Given the description of an element on the screen output the (x, y) to click on. 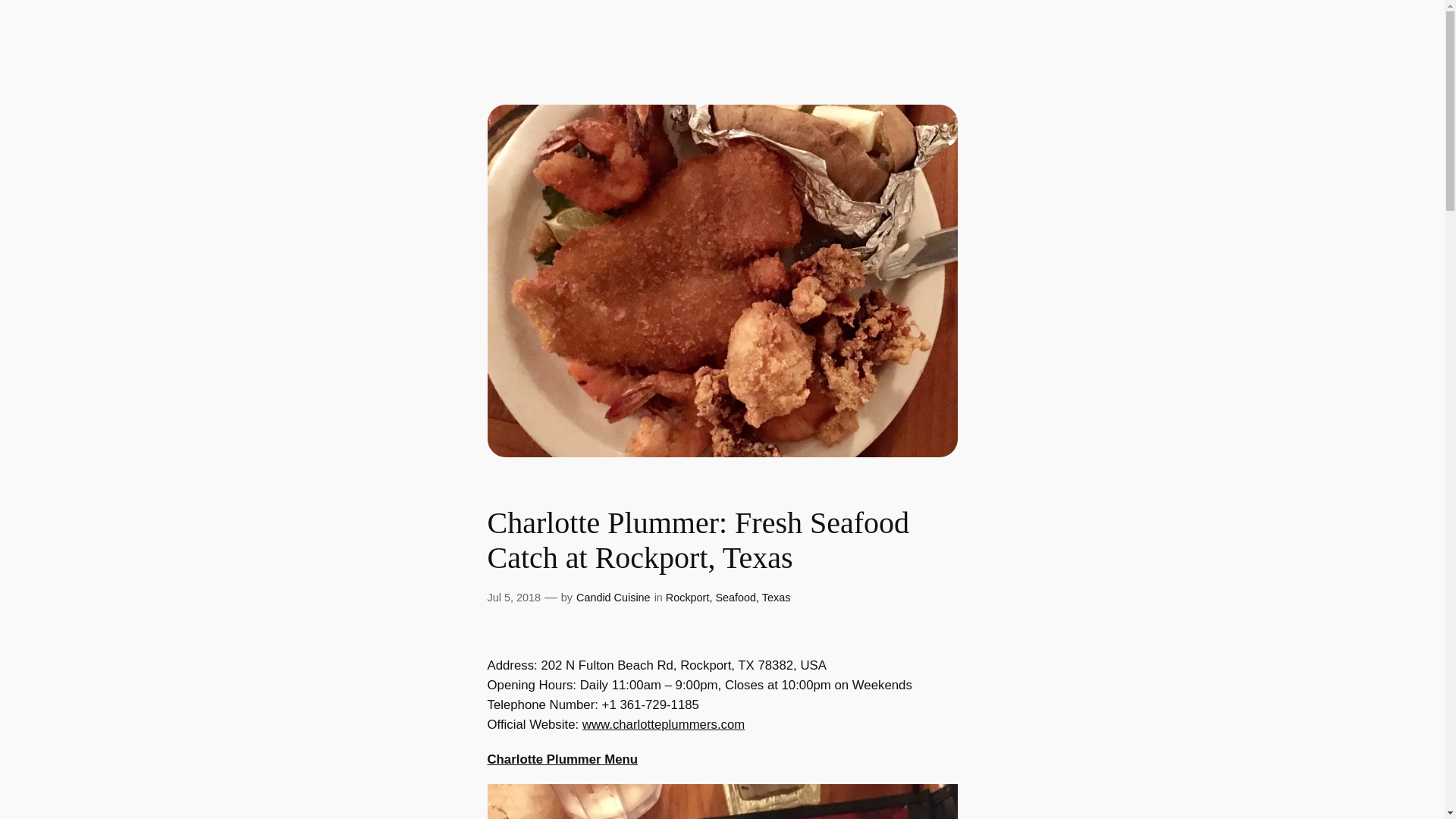
Charlotte Plummer Menu (561, 759)
Texas (775, 597)
www.charlotteplummers.com (663, 724)
Jul 5, 2018 (513, 597)
Candid Cuisine (613, 597)
Rockport (687, 597)
Seafood (734, 597)
